Given the description of an element on the screen output the (x, y) to click on. 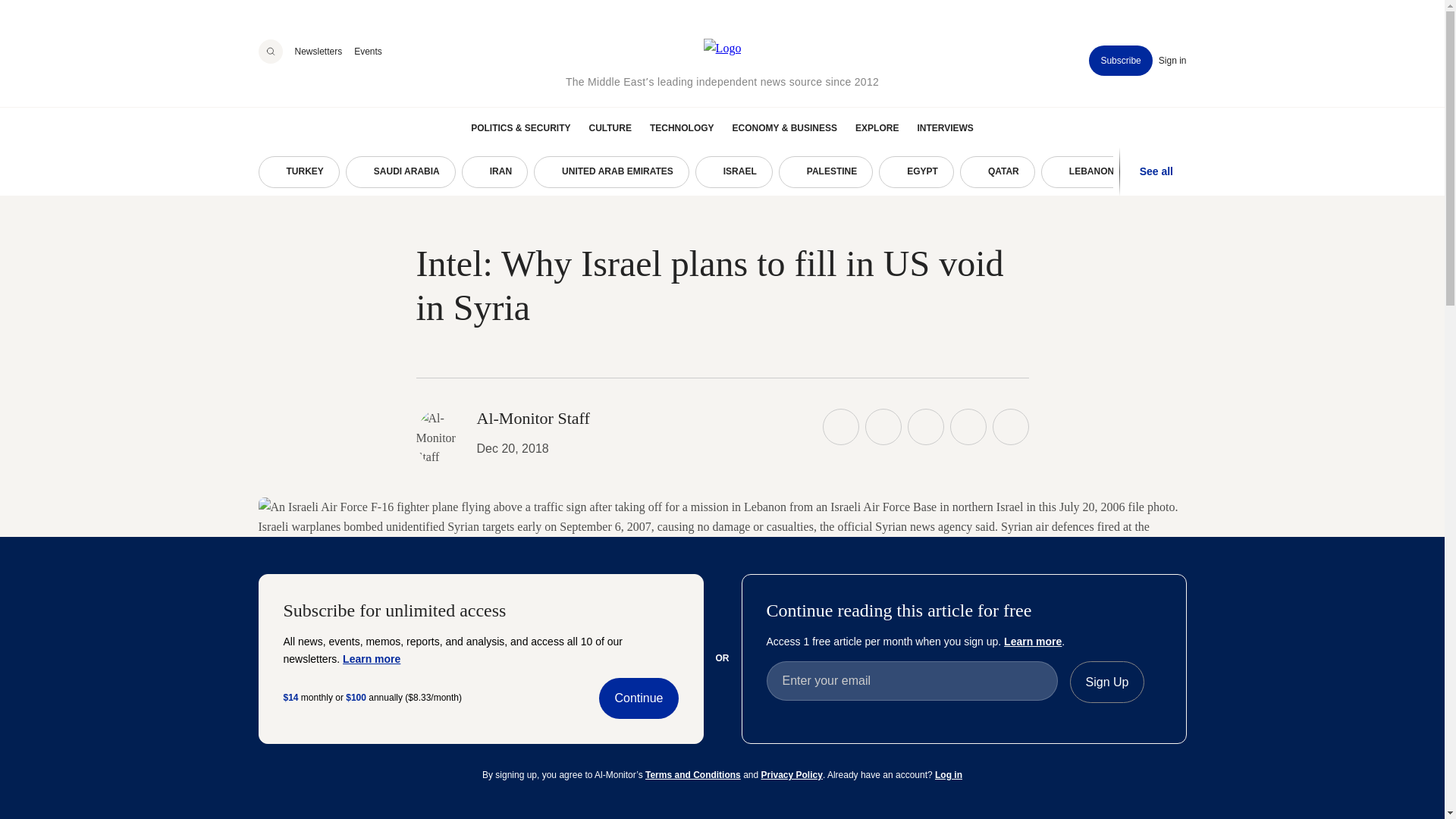
OMAN (1171, 172)
Sign in (1172, 60)
ISRAEL (734, 172)
SAUDI ARABIA (400, 172)
IRAN (494, 172)
PALESTINE (825, 172)
Search and explore Al-Monitor (269, 51)
EGYPT (916, 172)
LEBANON (1085, 172)
Events (367, 51)
